Given the description of an element on the screen output the (x, y) to click on. 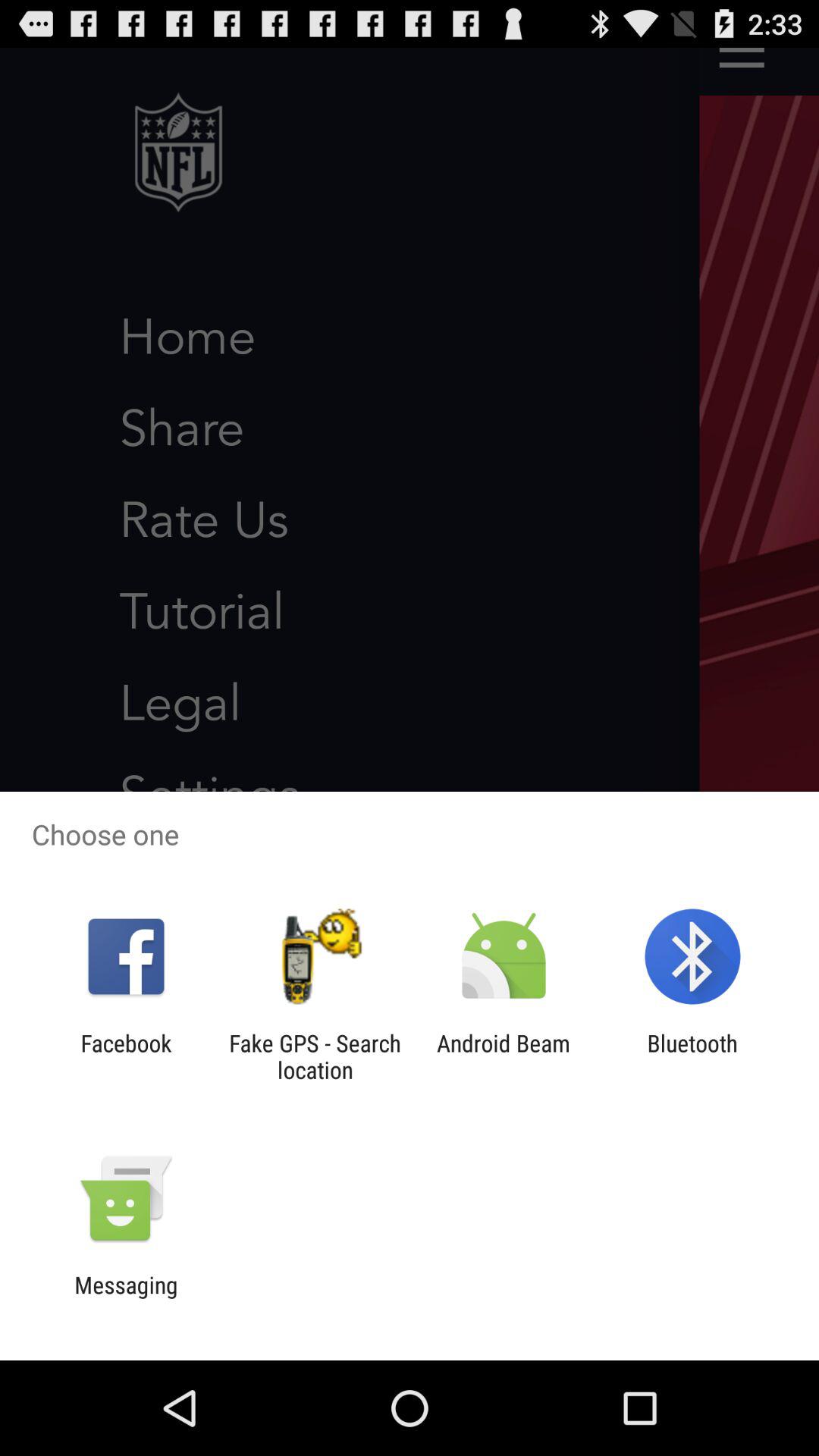
swipe until facebook (125, 1056)
